Given the description of an element on the screen output the (x, y) to click on. 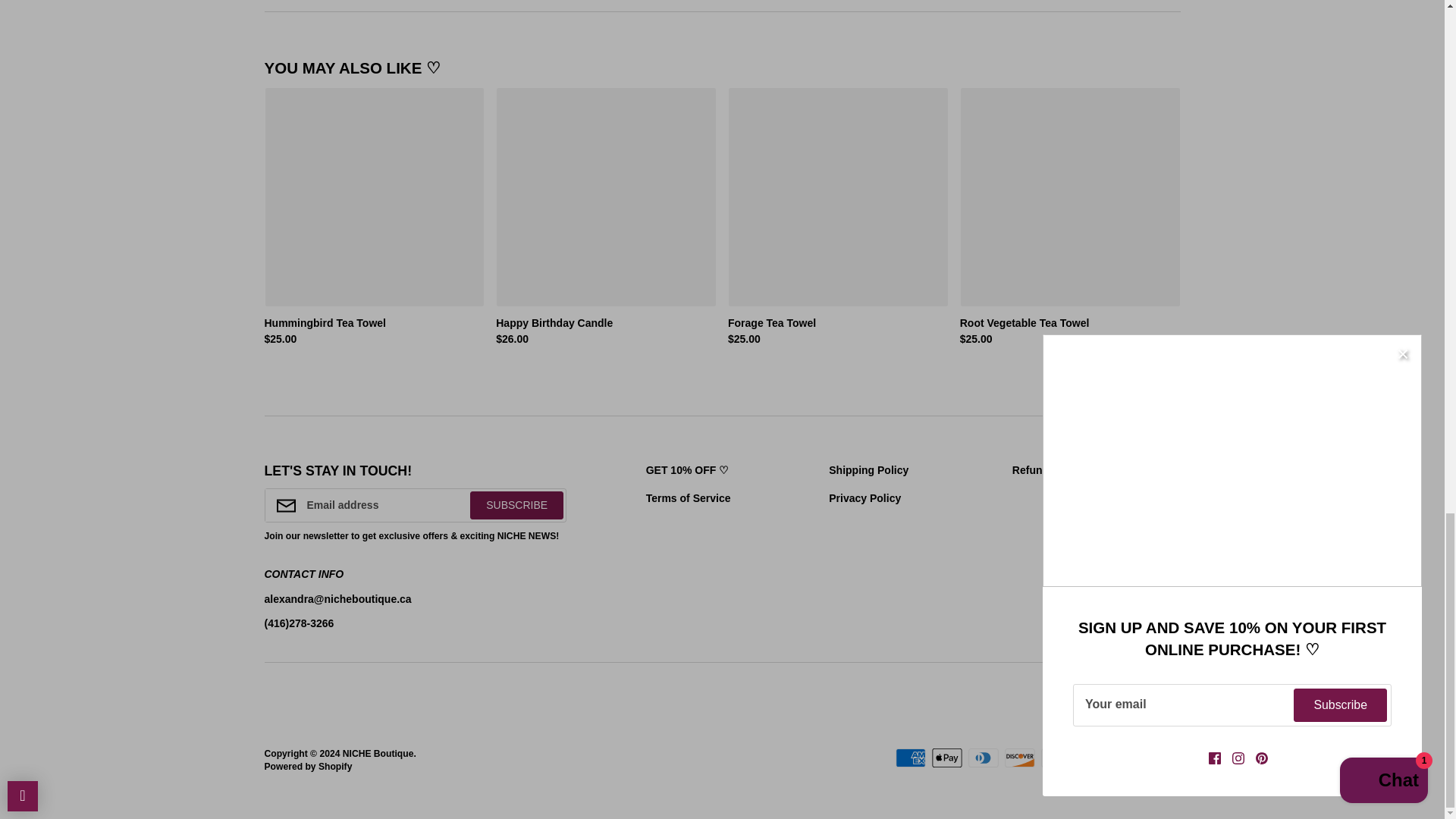
American Express (910, 757)
Google Pay (1056, 757)
Apple Pay (946, 757)
Mastercard (1092, 757)
Diners Club (983, 757)
Shop Pay (1128, 757)
Discover (1019, 757)
